Given the description of an element on the screen output the (x, y) to click on. 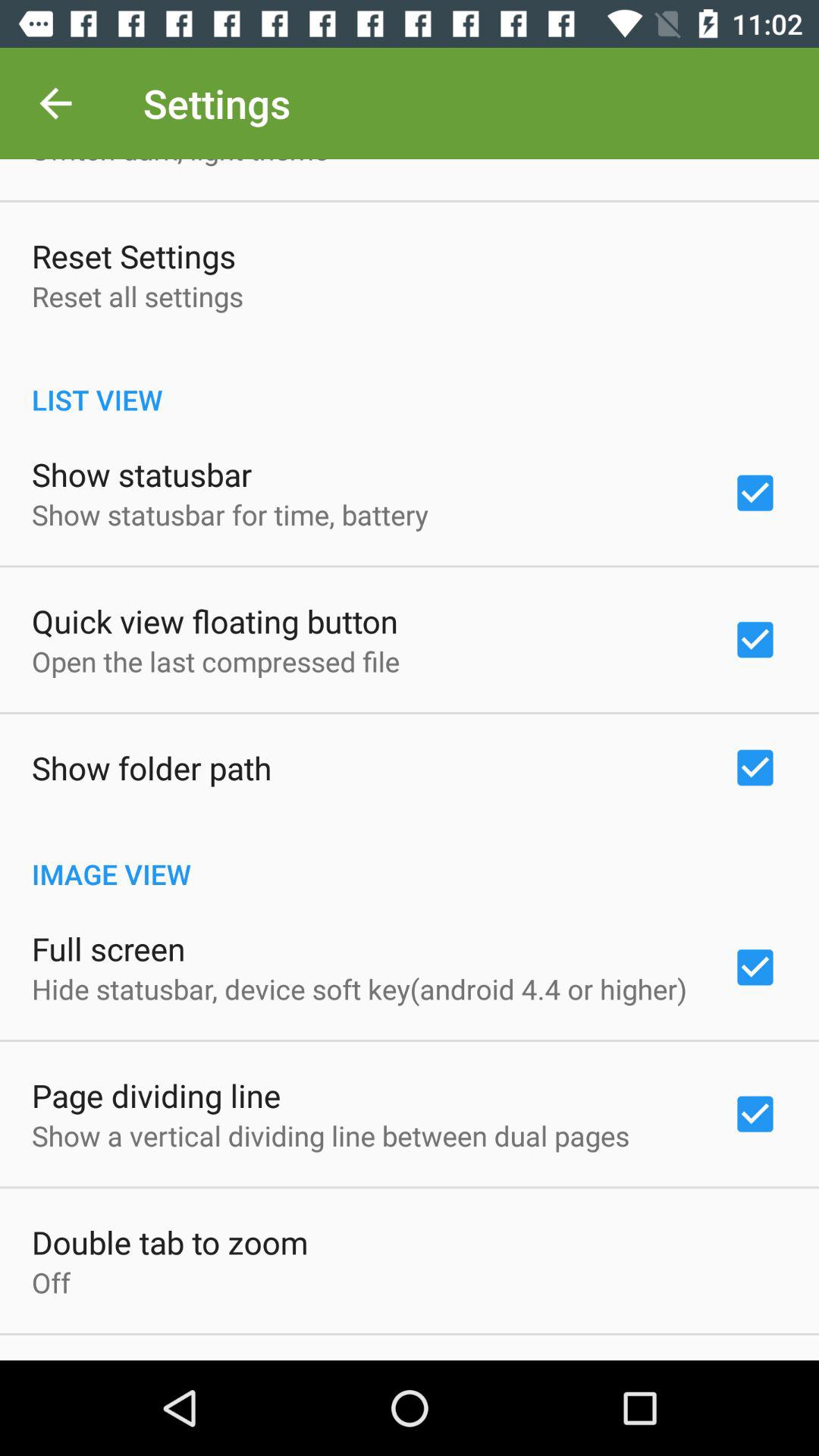
launch double tab to icon (169, 1241)
